Given the description of an element on the screen output the (x, y) to click on. 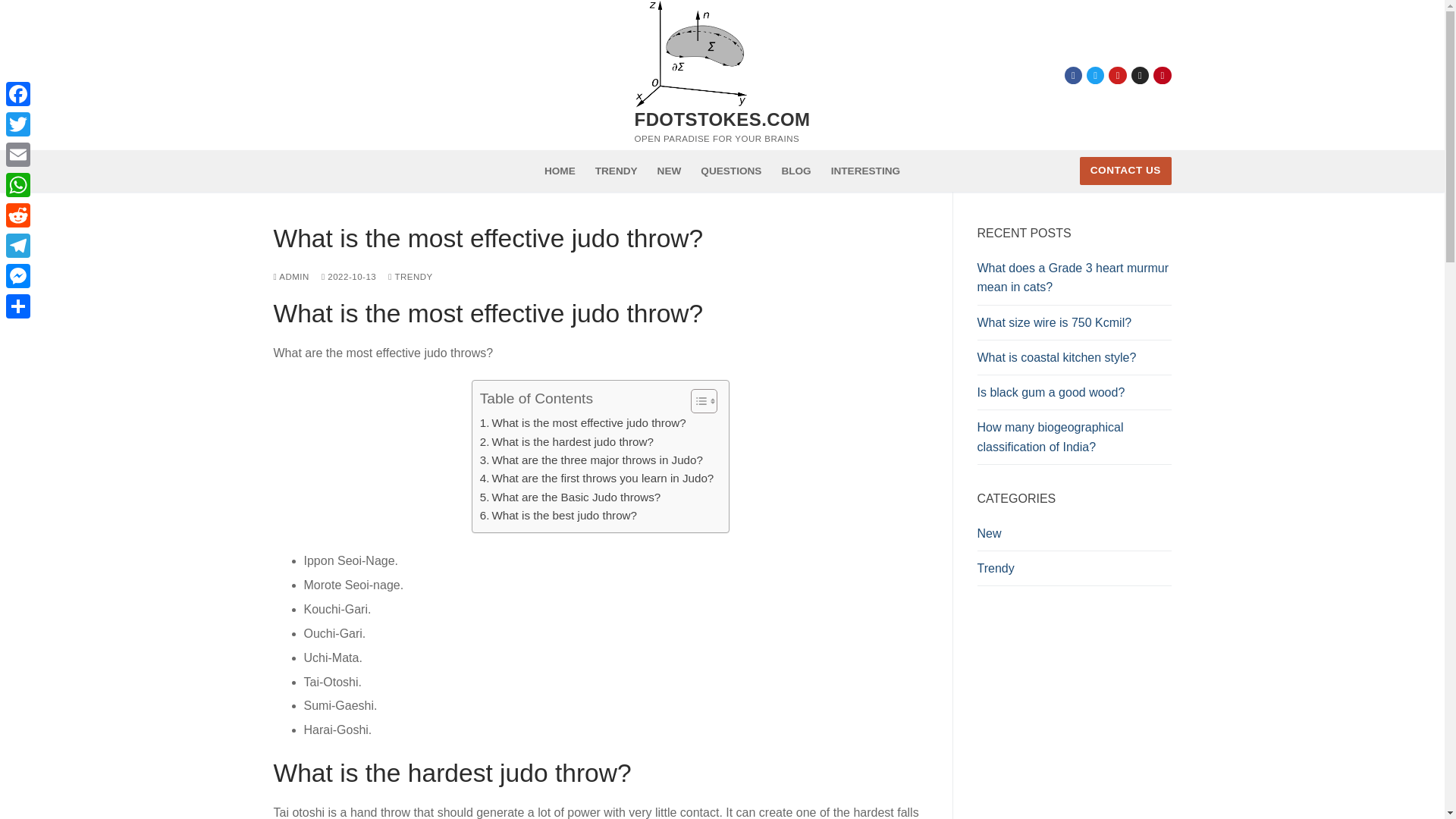
What is the hardest judo throw? (566, 442)
What is the most effective judo throw? (582, 423)
Instagram (1139, 75)
2022-10-13 (348, 276)
HOME (559, 171)
What are the three major throws in Judo? (591, 460)
Youtube (1117, 75)
Twitter (1095, 75)
What are the three major throws in Judo? (591, 460)
CONTACT US (1125, 171)
